Given the description of an element on the screen output the (x, y) to click on. 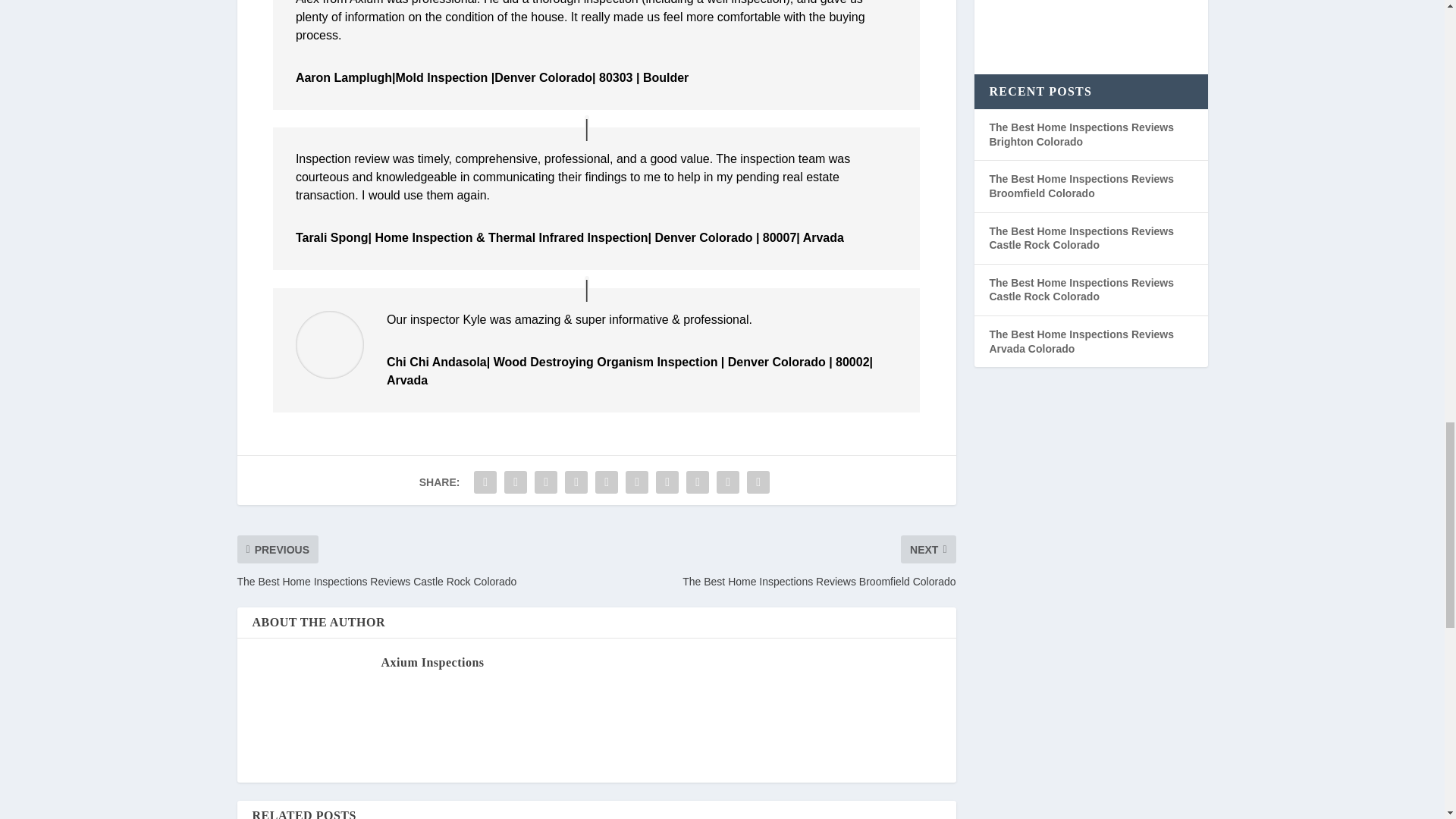
Axium Inspections (431, 662)
View all posts by Axium Inspections (431, 662)
